Given the description of an element on the screen output the (x, y) to click on. 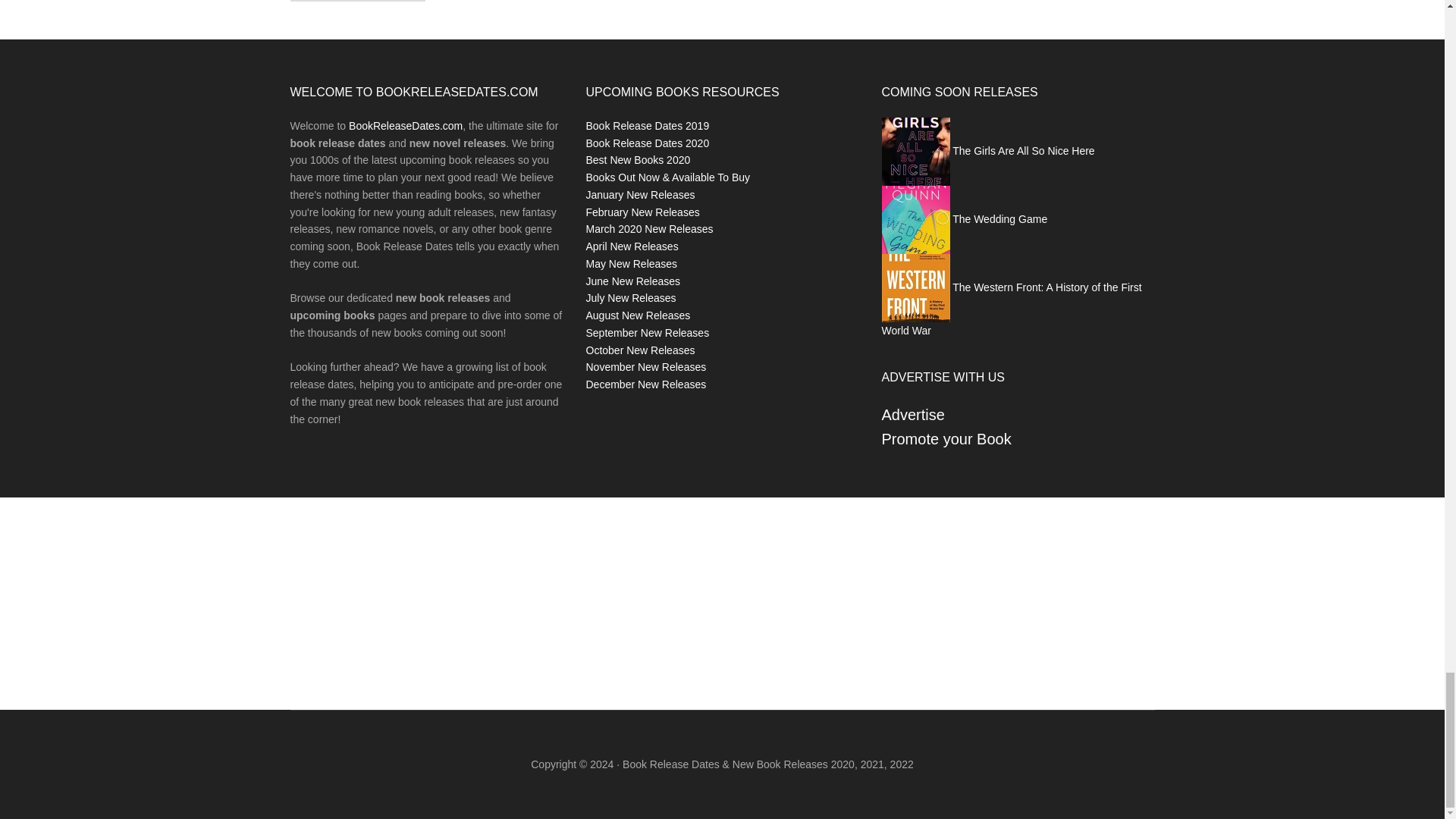
Post Comment (357, 0)
